Given the description of an element on the screen output the (x, y) to click on. 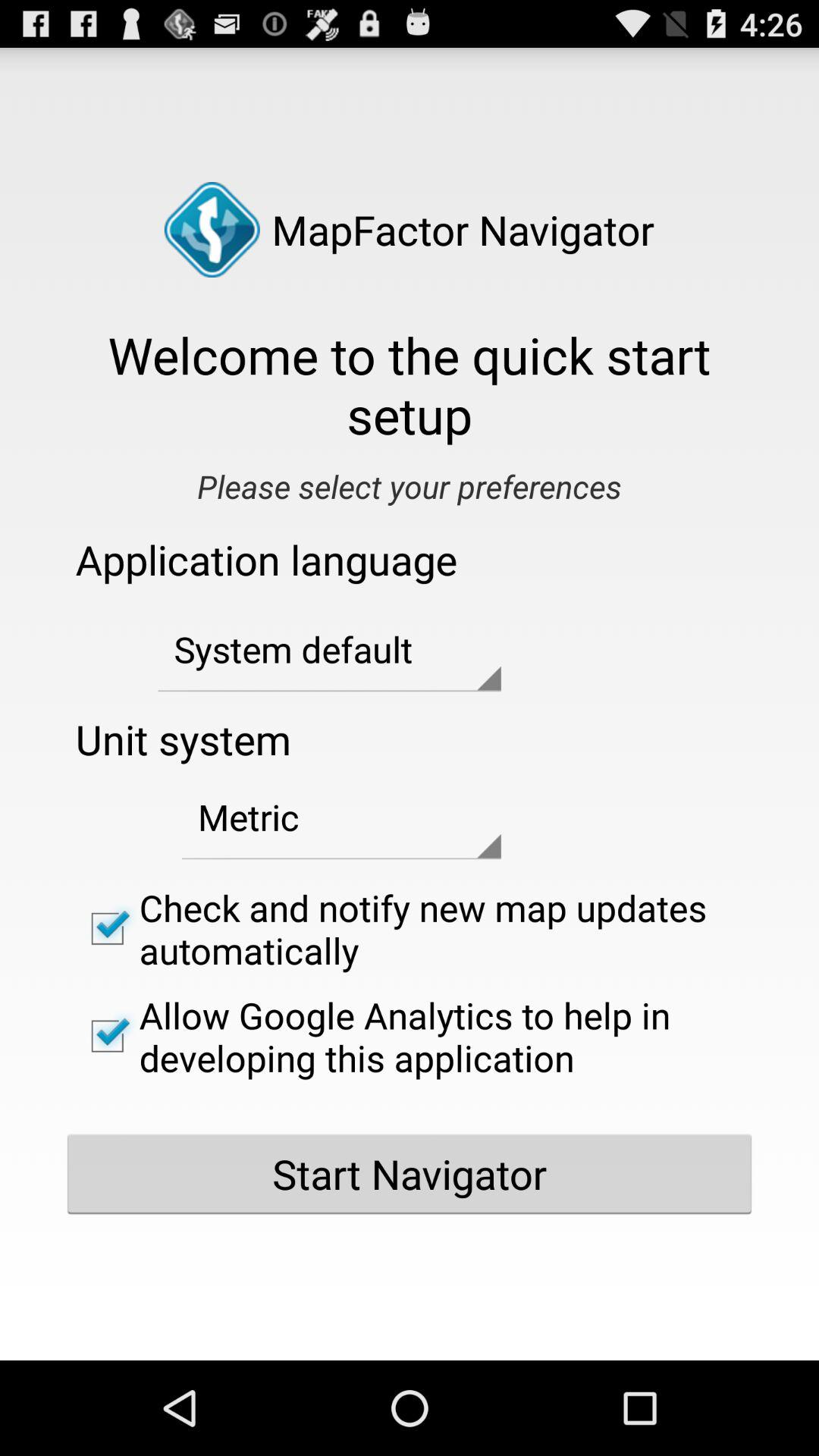
choose app below metric app (409, 928)
